Given the description of an element on the screen output the (x, y) to click on. 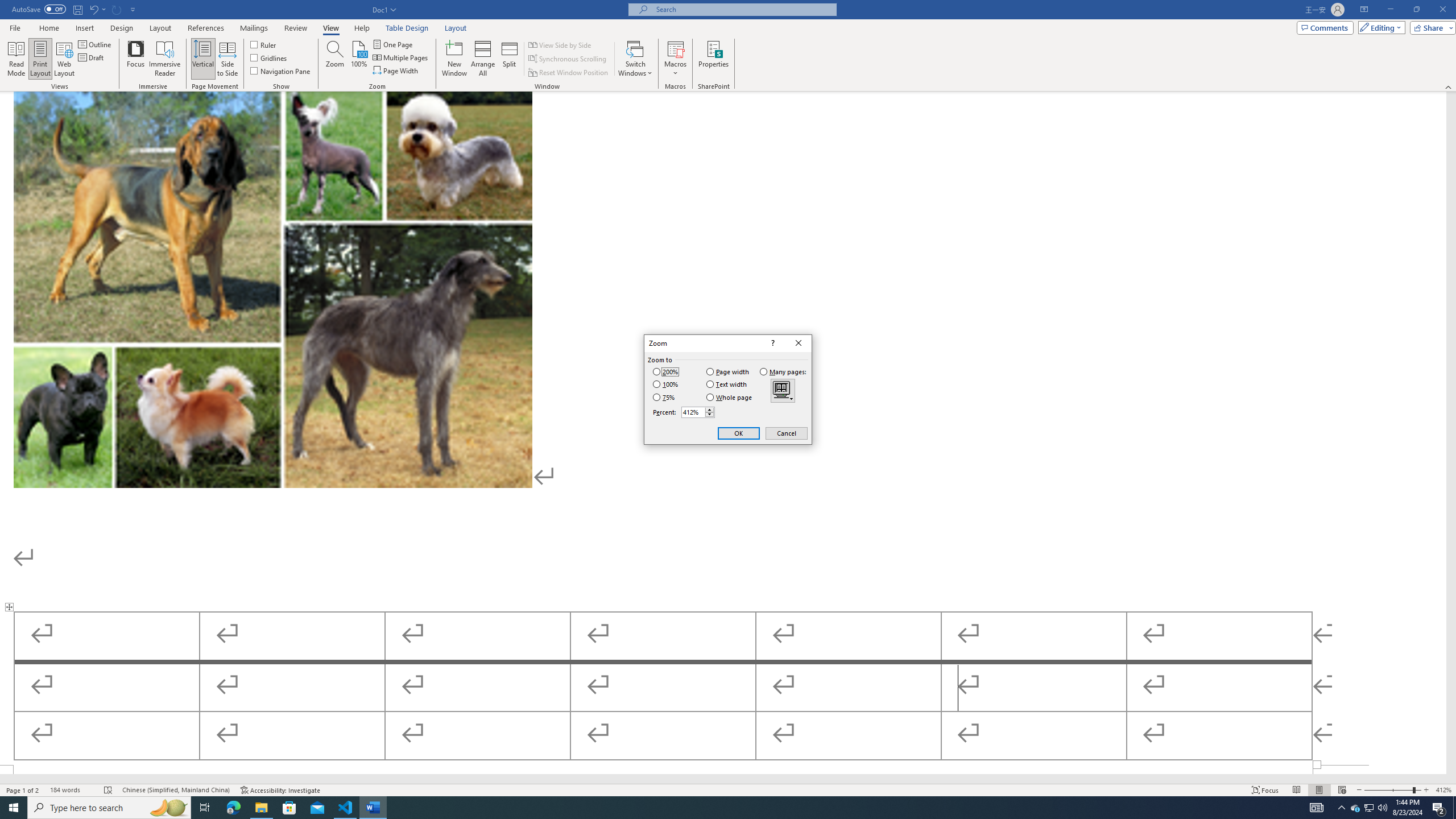
Synchronous Scrolling (568, 58)
Properties (713, 58)
Percent: (697, 412)
One Page (393, 44)
Navigation Pane (281, 69)
Word - 1 running window (373, 807)
